Given the description of an element on the screen output the (x, y) to click on. 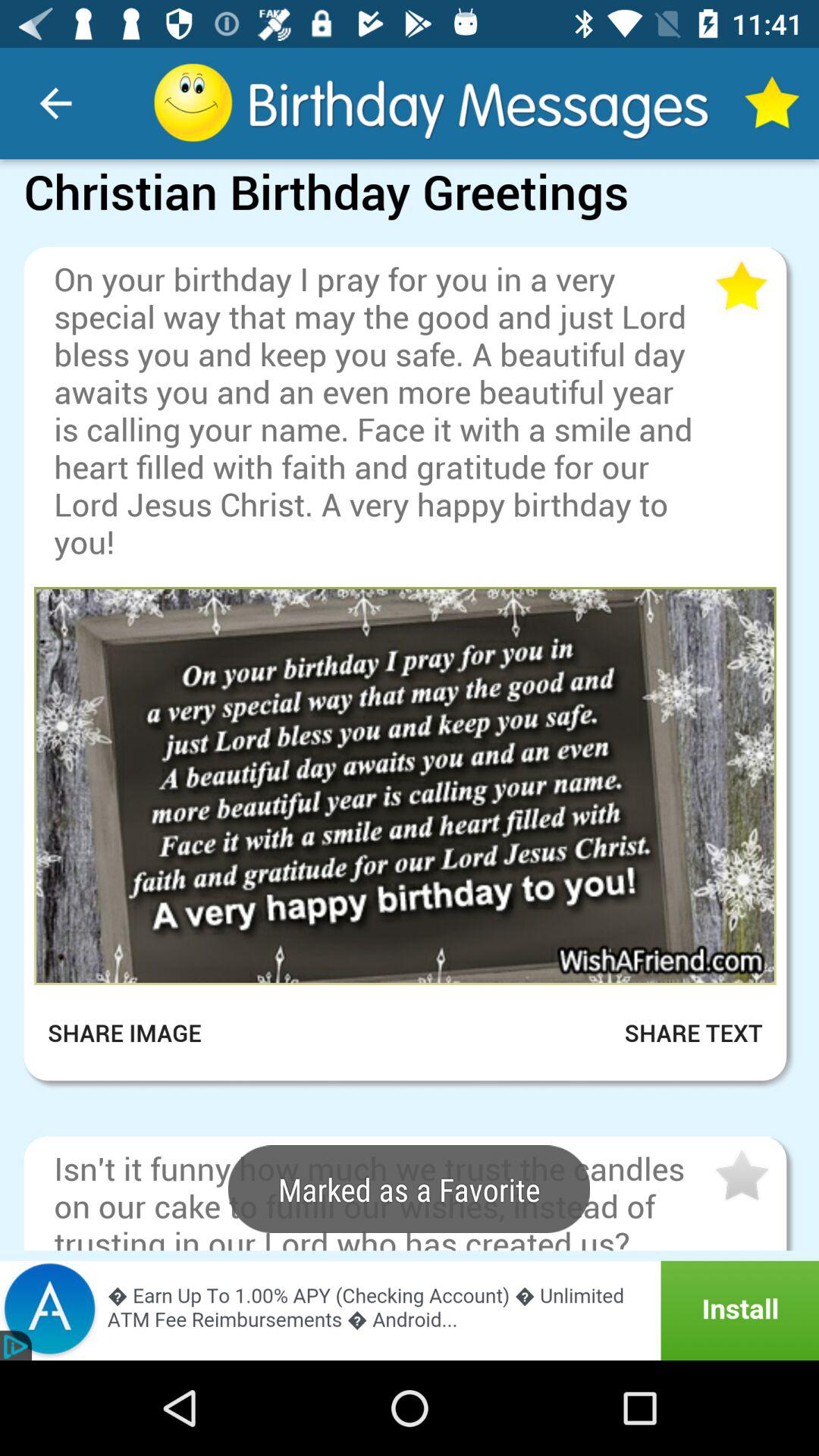
open the share text item (674, 1032)
